Given the description of an element on the screen output the (x, y) to click on. 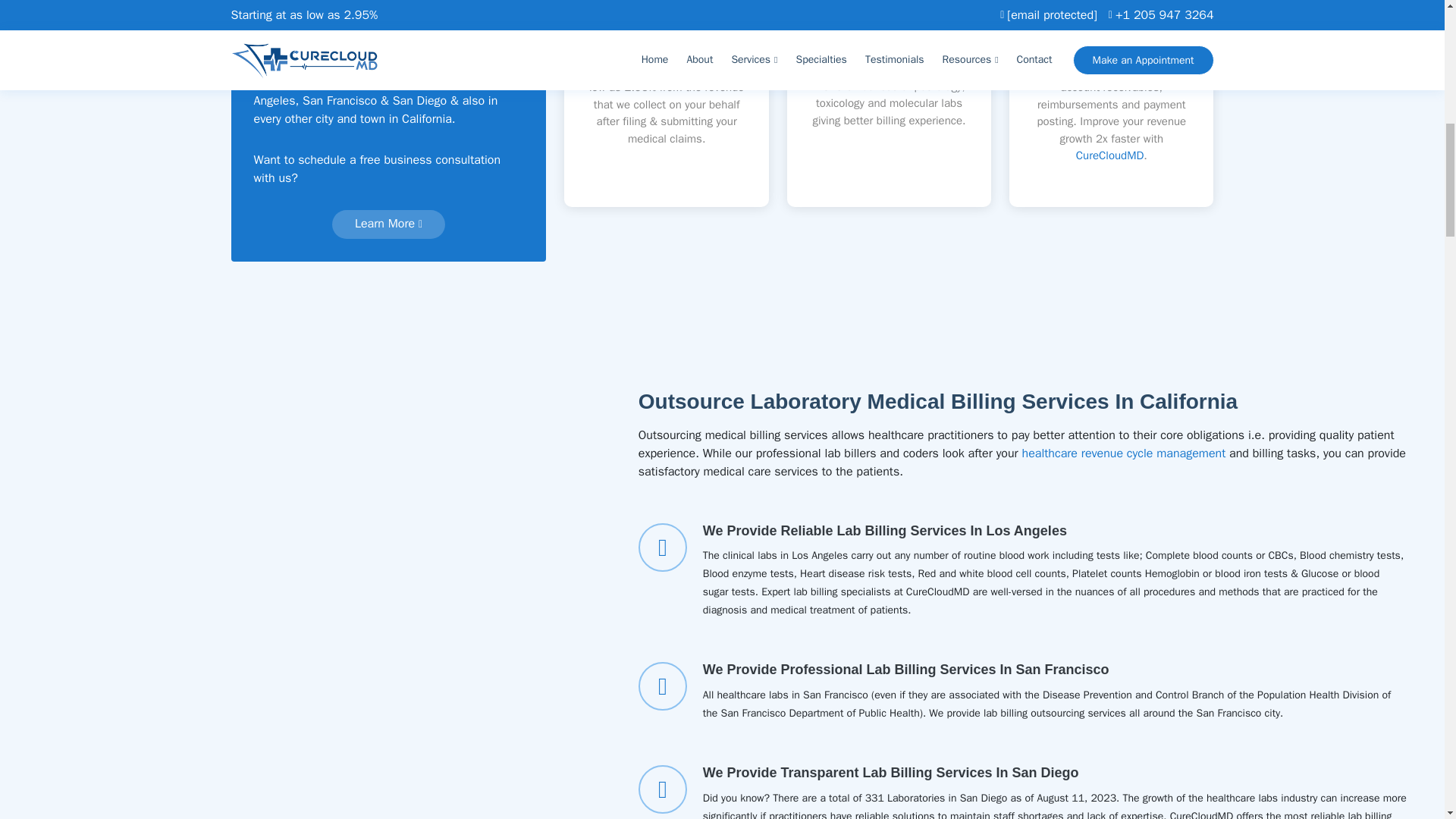
CureCloudMD (1109, 155)
healthcare revenue cycle management (1123, 453)
Learn More (388, 224)
laboratory billing services (664, 44)
We Provide Reliable Lab Billing Services In Los Angeles (885, 530)
We Provide Transparent Lab Billing Services In San Diego (890, 772)
